Given the description of an element on the screen output the (x, y) to click on. 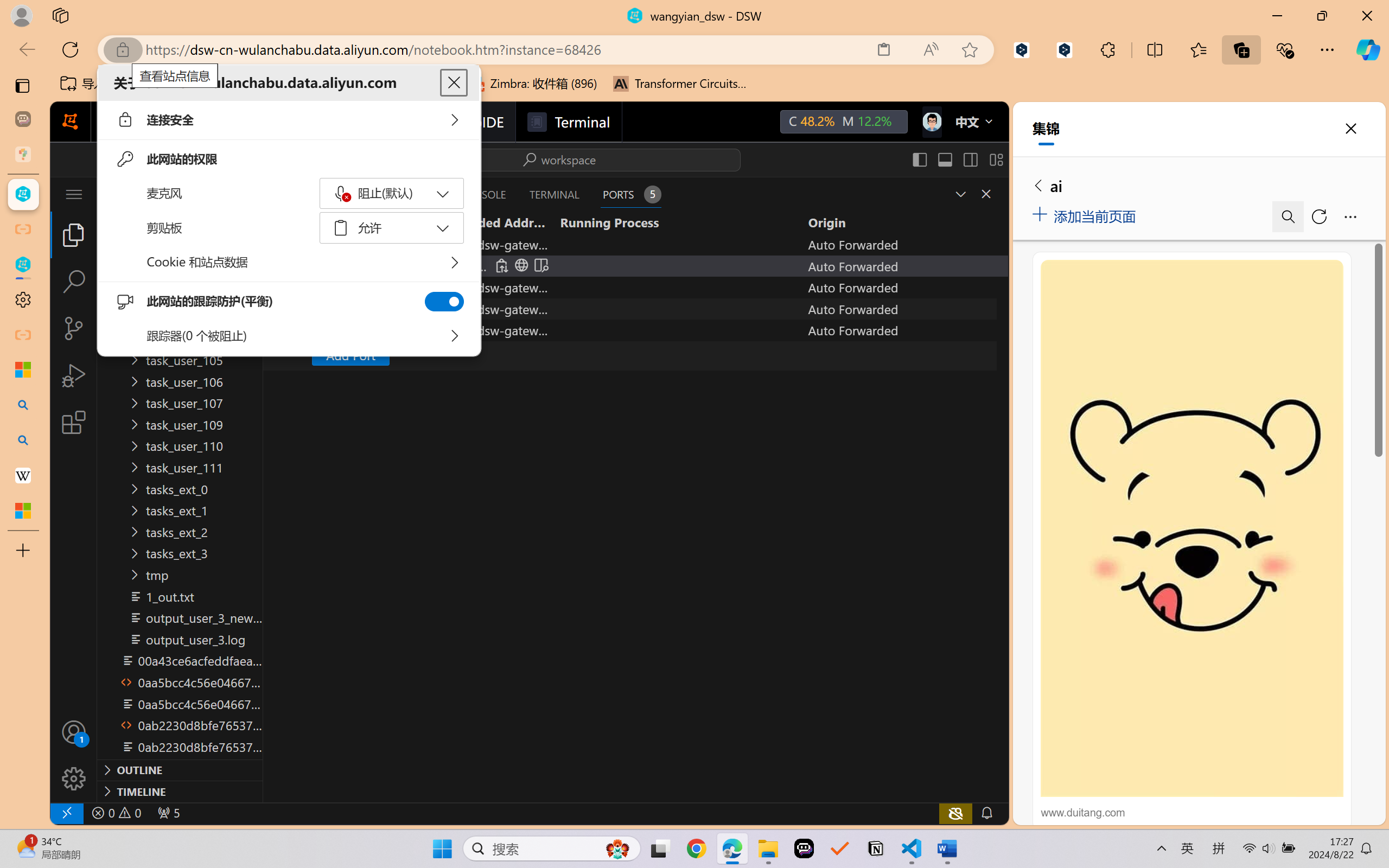
Toggle Primary Side Bar (Ctrl+B) (919, 159)
Microsoft security help and learning (22, 369)
Open in Browser (520, 265)
Timeline Section (179, 791)
Title actions (957, 159)
